Given the description of an element on the screen output the (x, y) to click on. 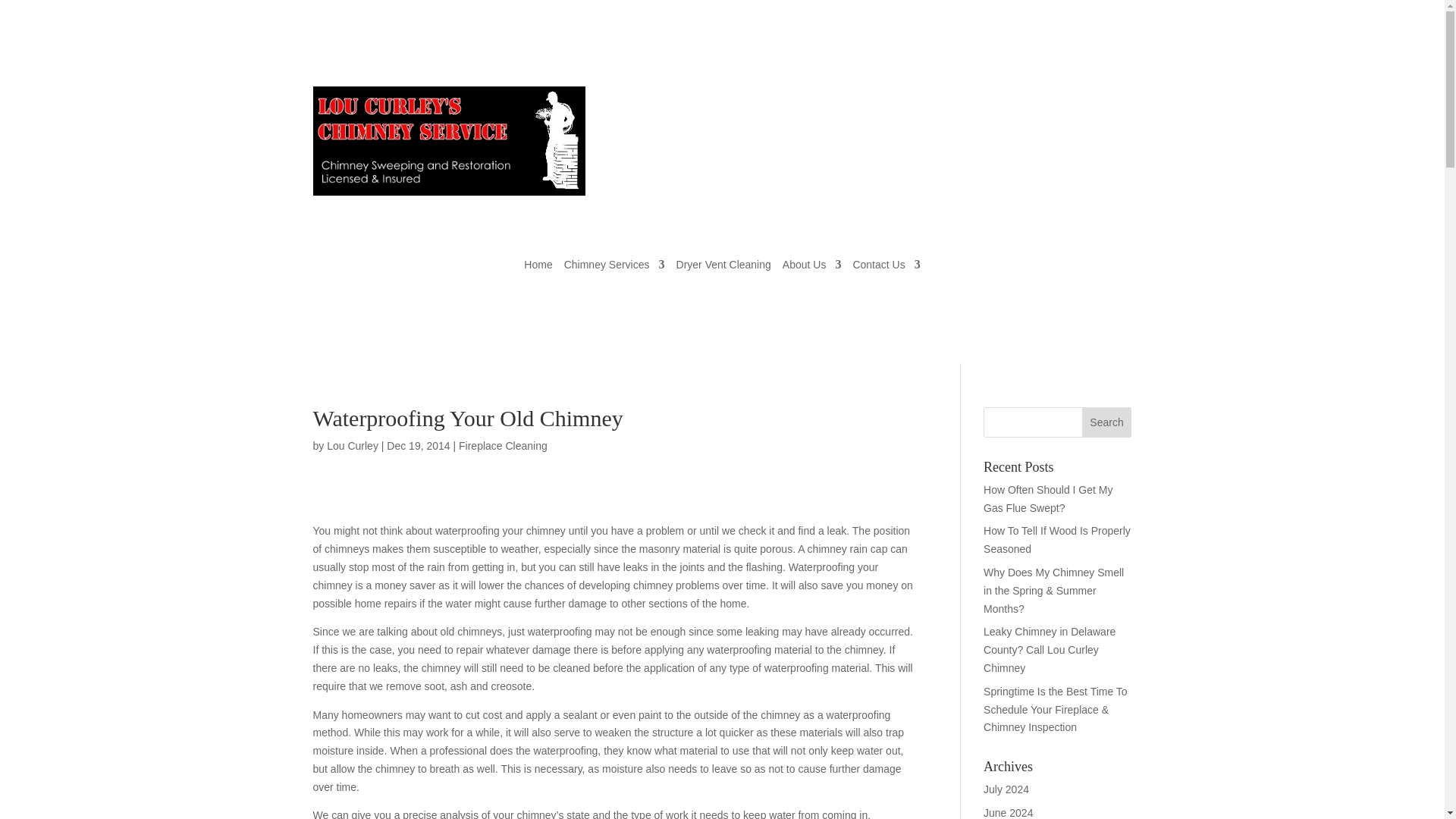
About Us (812, 267)
Contact Us (885, 267)
Fireplace Cleaning (502, 445)
How Often Should I Get My Gas Flue Swept? (1048, 499)
Home (537, 267)
Leaky Chimney in Delaware County? Call Lou Curley Chimney (1049, 649)
How To Tell If Wood Is Properly Seasoned (1057, 539)
Dryer Vent Cleaning (724, 267)
Posts by Lou Curley (352, 445)
Search (1106, 422)
Chimney Services (614, 267)
June 2024 (1008, 812)
Lou Curley (352, 445)
Search (1106, 422)
